Given the description of an element on the screen output the (x, y) to click on. 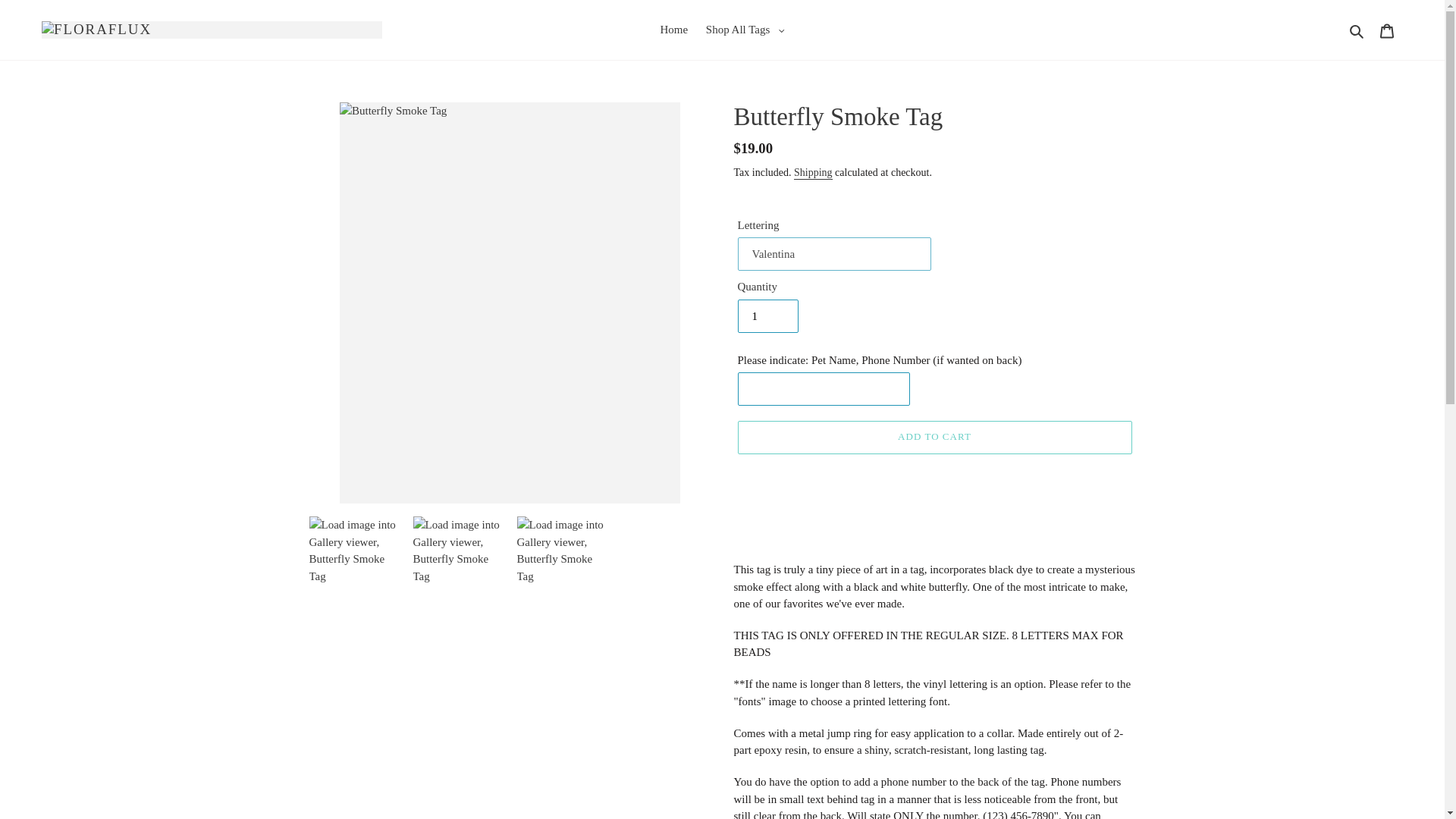
Shipping (812, 173)
Cart (1387, 29)
Search (1357, 29)
Shop All Tags (745, 29)
ADD TO CART (933, 437)
Home (673, 29)
1 (766, 315)
